Given the description of an element on the screen output the (x, y) to click on. 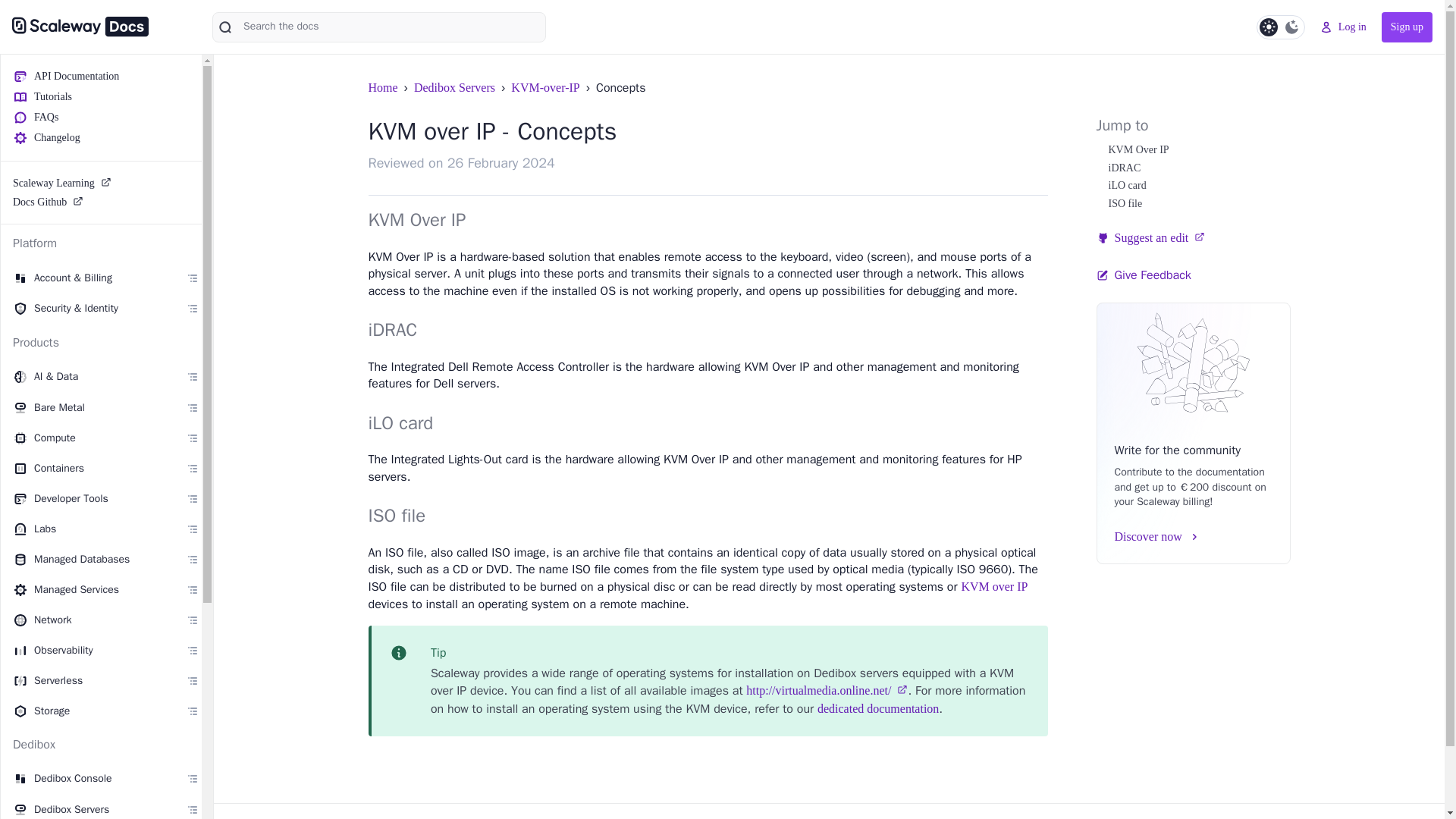
FAQs (101, 116)
Changelog (101, 137)
Scaleway Learning (101, 182)
API Documentation (101, 75)
Search the docs (379, 27)
Docs Github (101, 201)
Log in (1343, 27)
Tutorials (101, 96)
on (1280, 27)
Sign up (1406, 27)
